Given the description of an element on the screen output the (x, y) to click on. 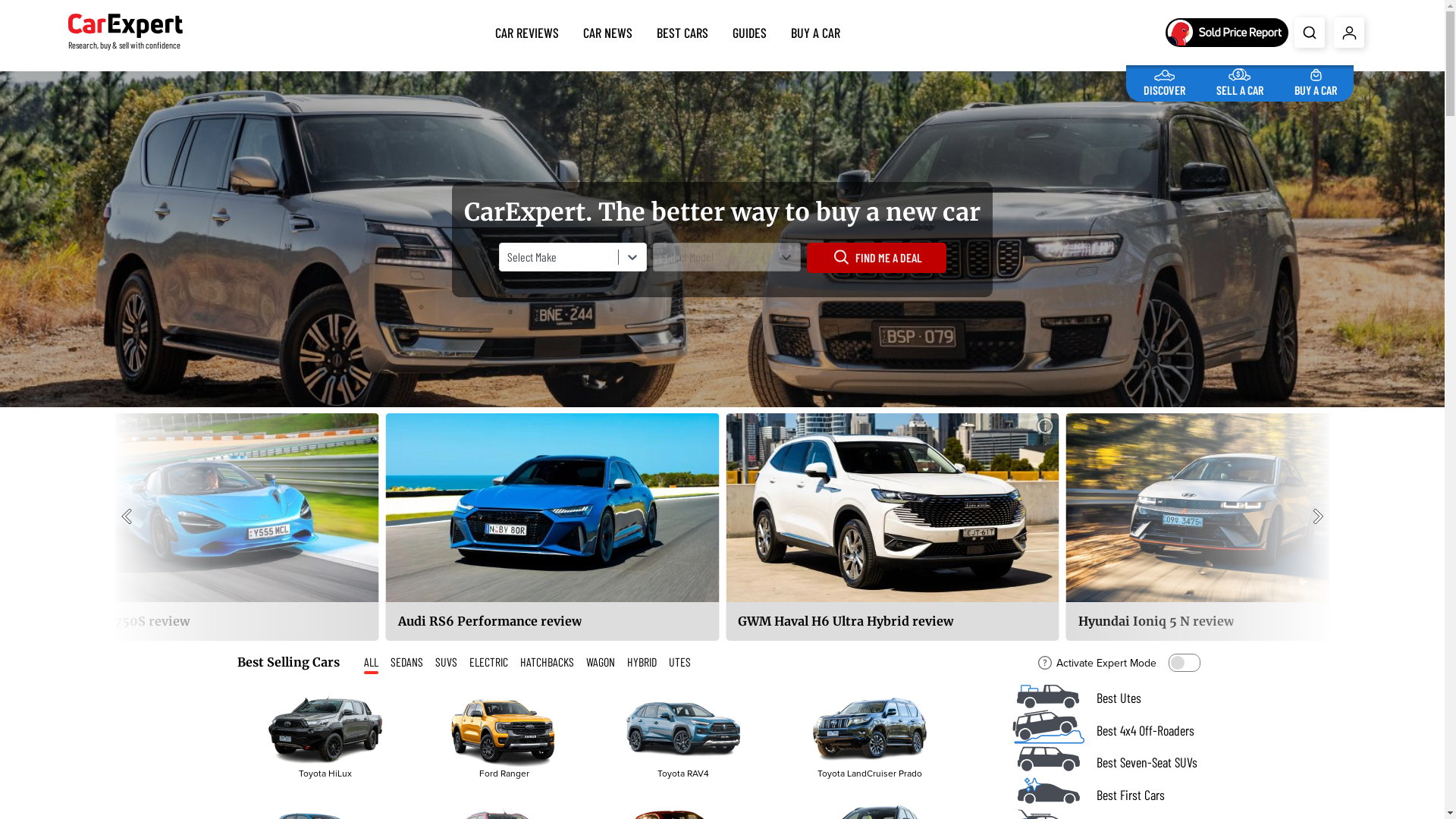
Ford Ranger Element type: text (503, 736)
Toyota LandCruiser Prado Element type: hover (869, 729)
on Element type: text (1183, 662)
BUY A CAR Element type: text (1315, 80)
BEST CARS Element type: text (682, 29)
Best Seven-Seat SUVs Element type: text (1108, 762)
BUY A CAR Element type: text (815, 29)
Porsche Cayenne review Element type: text (552, 526)
Toyota HiLux Element type: text (324, 736)
Best Utes Element type: text (1108, 697)
Ford Ranger Element type: hover (504, 729)
CAR REVIEWS Element type: text (526, 29)
Toyota HiLux Element type: hover (325, 728)
Audi RS6 Performance review Element type: text (1232, 526)
SELL A CAR Element type: text (1239, 80)
Toyota LandCruiser Prado Element type: text (868, 736)
Toyota RAV4 Element type: hover (683, 729)
DISCOVER Element type: text (1164, 80)
Best First Cars Element type: text (1108, 794)
Toyota RAV4 Element type: text (682, 736)
GUIDES Element type: text (749, 29)
CAR NEWS Element type: text (607, 29)
Submit Element type: hover (1309, 32)
Best 4x4 Off-Roaders Element type: text (1108, 730)
Volkswagen Tiguan Allspace review Element type: text (212, 526)
McLaren 750S review Element type: text (892, 526)
